Given the description of an element on the screen output the (x, y) to click on. 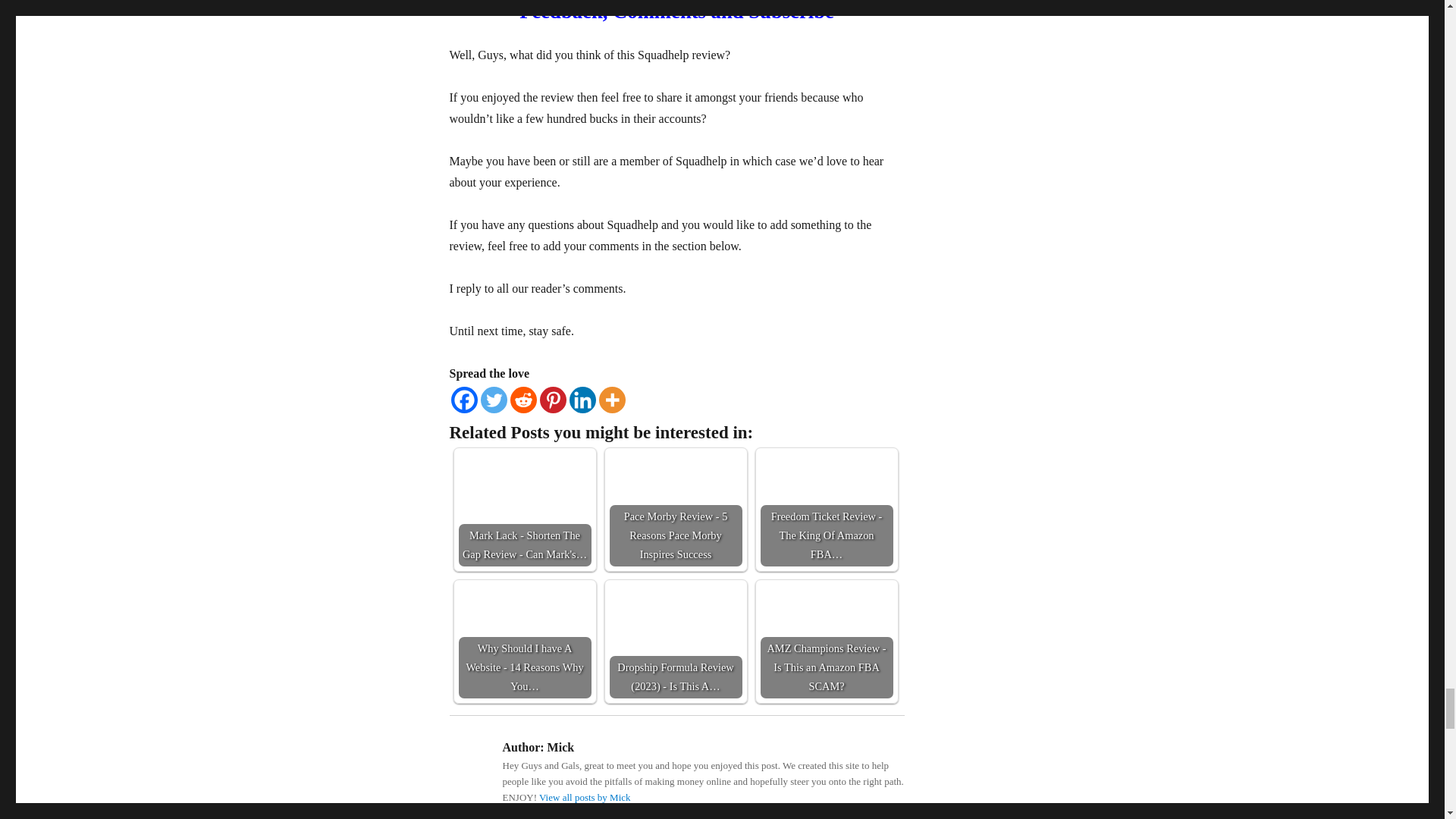
Facebook (463, 399)
More (612, 399)
Pinterest (553, 399)
Reddit (522, 399)
Linkedin (582, 399)
Twitter (493, 399)
